Given the description of an element on the screen output the (x, y) to click on. 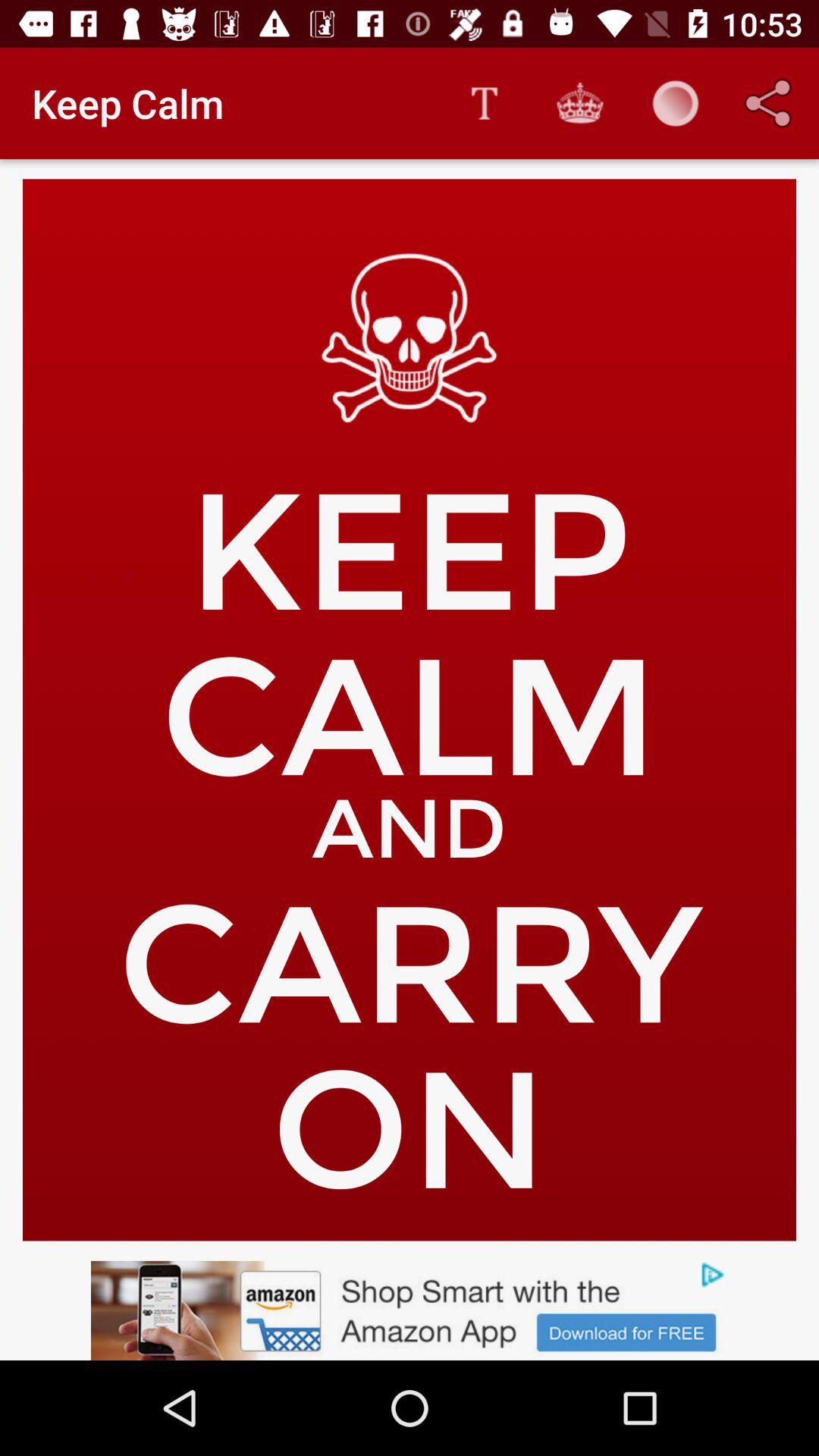
advertisements field (409, 1310)
